Given the description of an element on the screen output the (x, y) to click on. 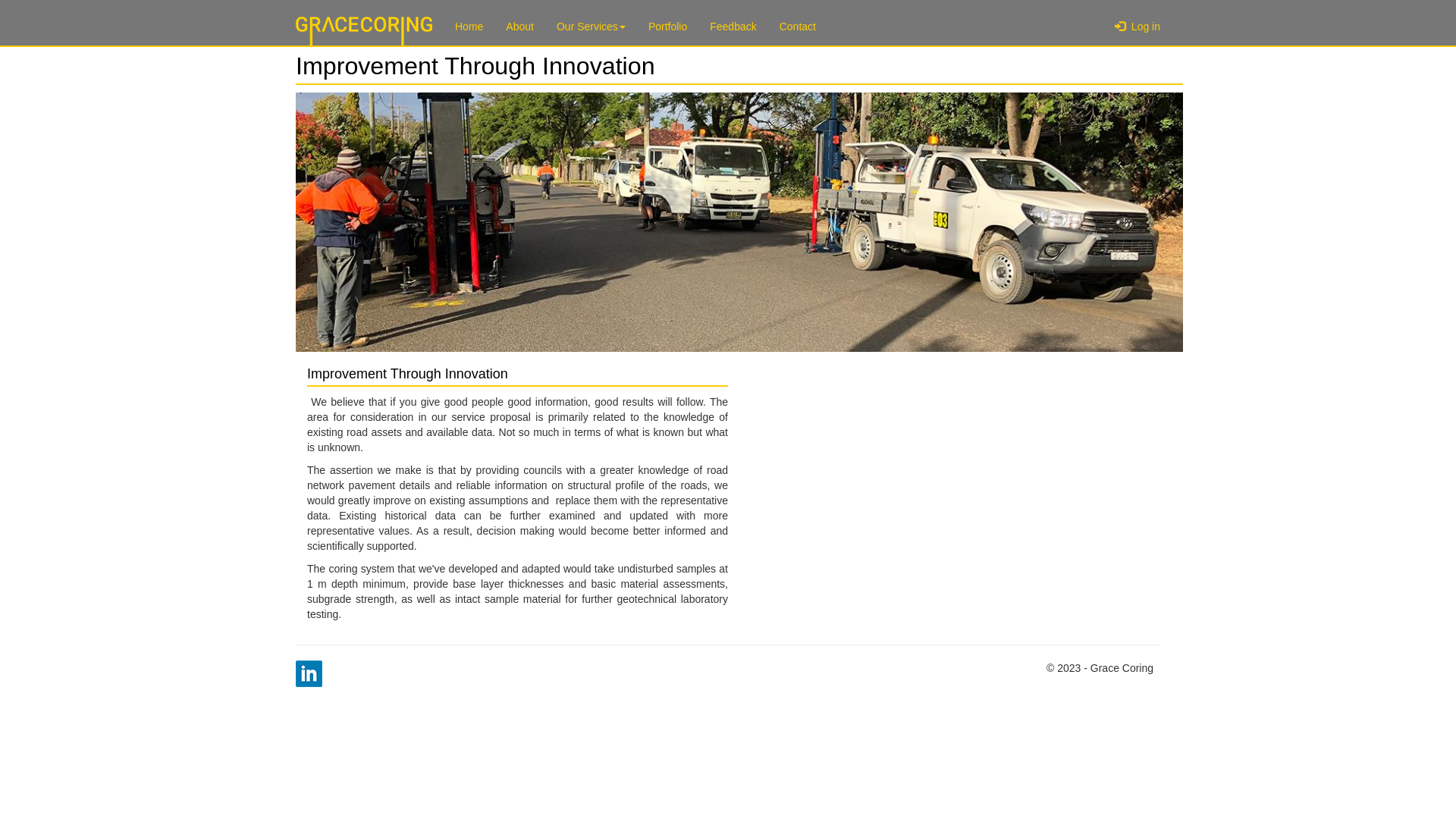
LinkedIn Element type: hover (308, 673)
Feedback Element type: text (732, 26)
Home Element type: text (468, 26)
About Element type: text (519, 26)
 Log in Element type: text (1137, 26)
Portfolio Element type: text (667, 26)
Contact Element type: text (797, 26)
Our Services Element type: text (591, 26)
